Given the description of an element on the screen output the (x, y) to click on. 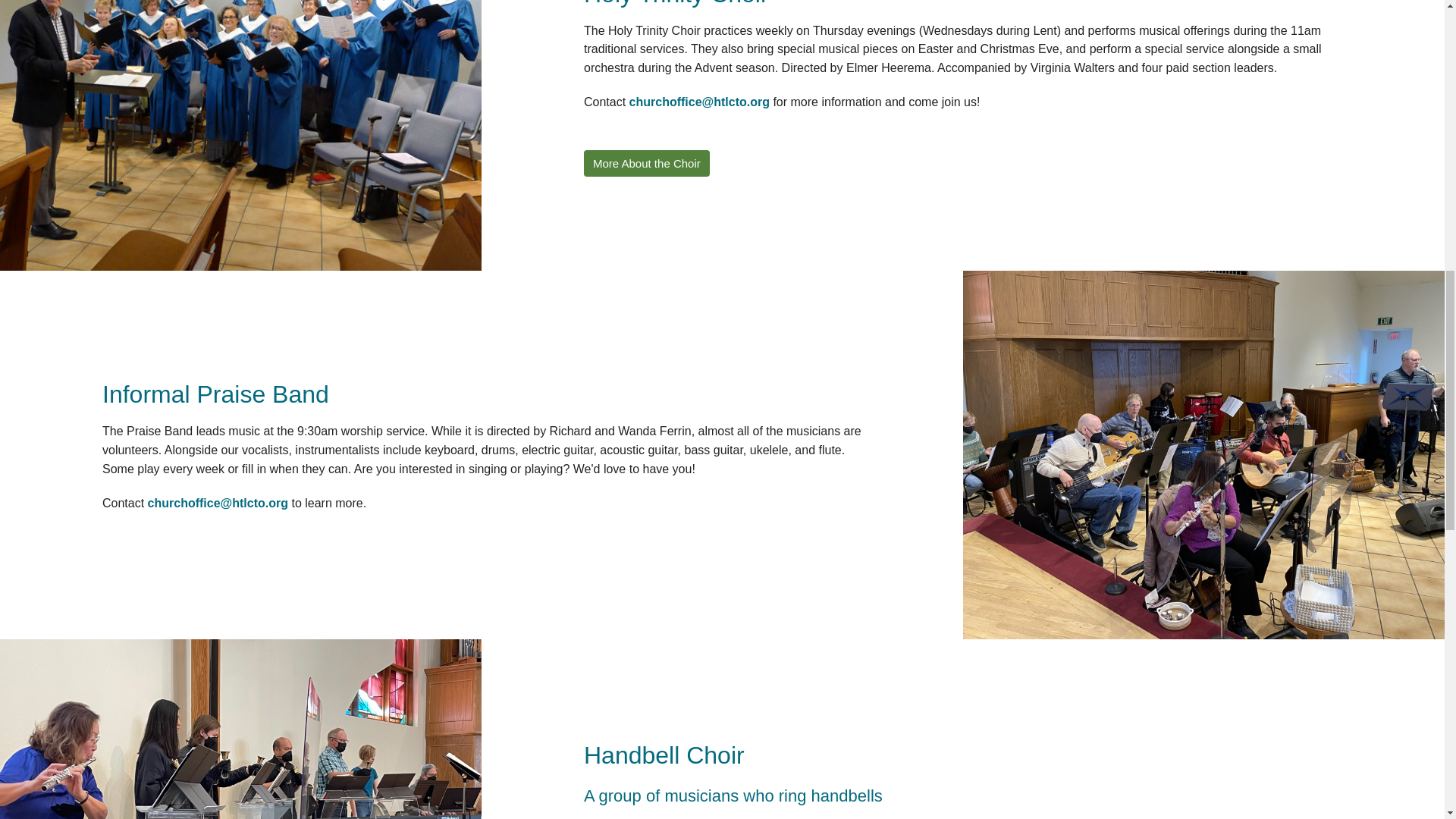
More About the Choir (646, 162)
